Given the description of an element on the screen output the (x, y) to click on. 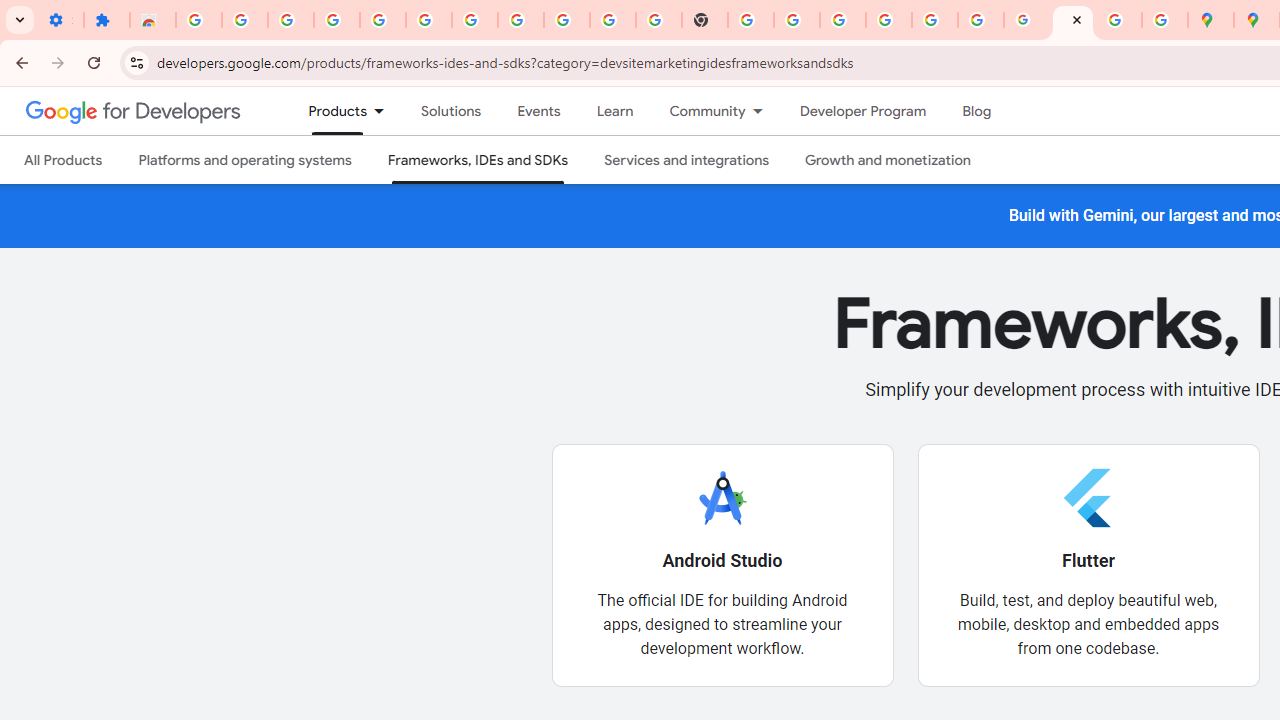
Sign in - Google Accounts (889, 20)
All Products (63, 160)
Products, selected (329, 111)
